Given the description of an element on the screen output the (x, y) to click on. 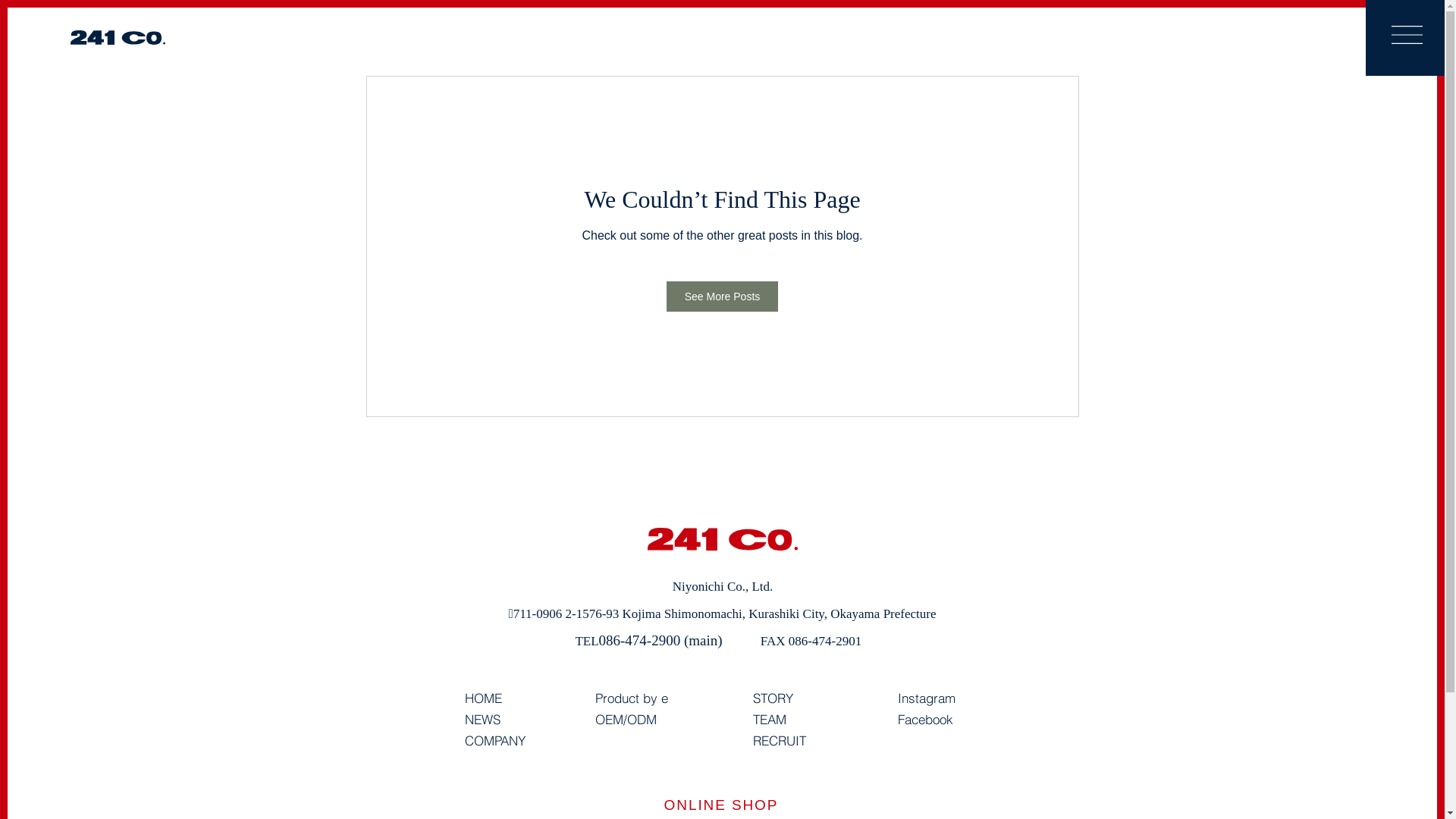
Facebook Element type: text (925, 720)
HOME Element type: text (482, 698)
See More Posts Element type: text (722, 296)
086-474-2900 (main) Element type: text (660, 640)
RECRUIT Element type: text (778, 741)
TEAM Element type: text (768, 720)
OEM/ODM Element type: text (624, 720)
Instagram Element type: text (926, 698)
NEWS Element type: text (481, 720)
STORY Element type: text (772, 698)
Product by e Element type: text (630, 698)
TEL Element type: text (586, 640)
COMPANY Element type: text (494, 741)
